Given the description of an element on the screen output the (x, y) to click on. 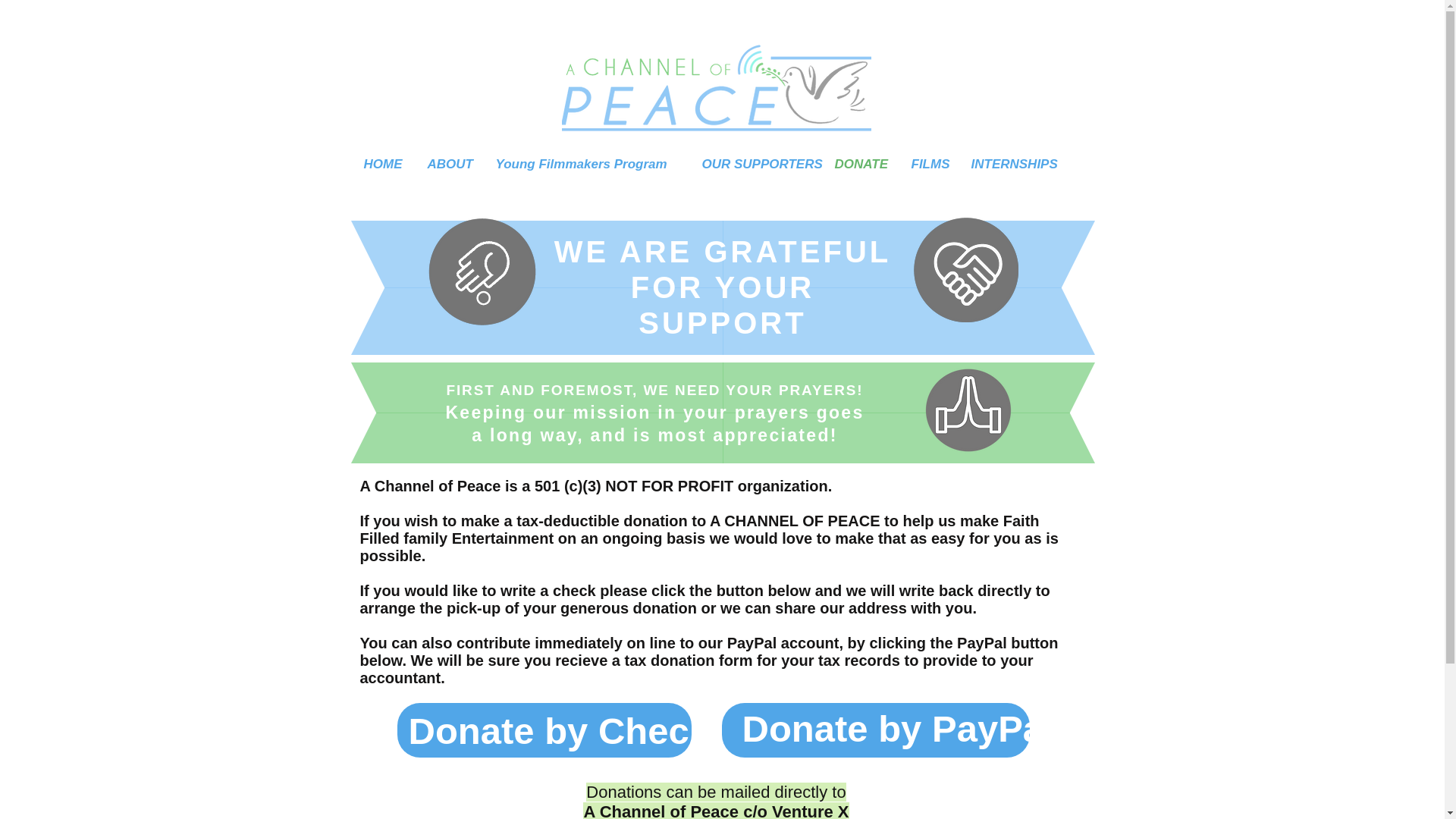
OUR SUPPORTERS (756, 164)
III.png (480, 268)
Donate by PayPal (896, 728)
DONATE (860, 164)
Young Filmmakers Program (586, 164)
INTERNSHIPS (1010, 164)
LEV.png (964, 269)
Donate by Check (558, 731)
ABOUT (448, 164)
HOME (383, 164)
